Given the description of an element on the screen output the (x, y) to click on. 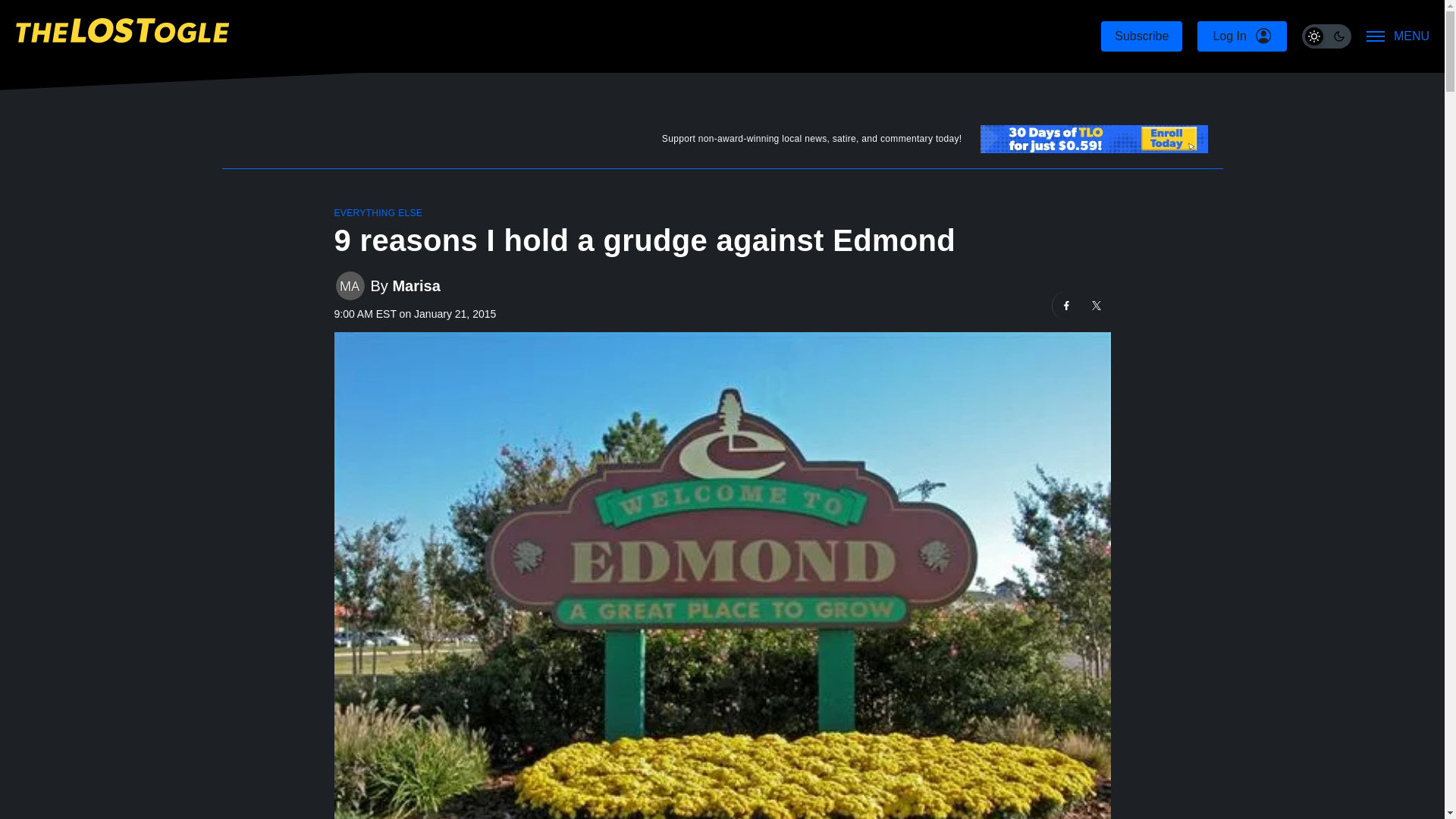
Share on Facebook (1066, 305)
Marisa (415, 286)
MENU (1398, 36)
EVERYTHING ELSE (377, 213)
Log In (1240, 36)
Subscribe (1141, 36)
